Given the description of an element on the screen output the (x, y) to click on. 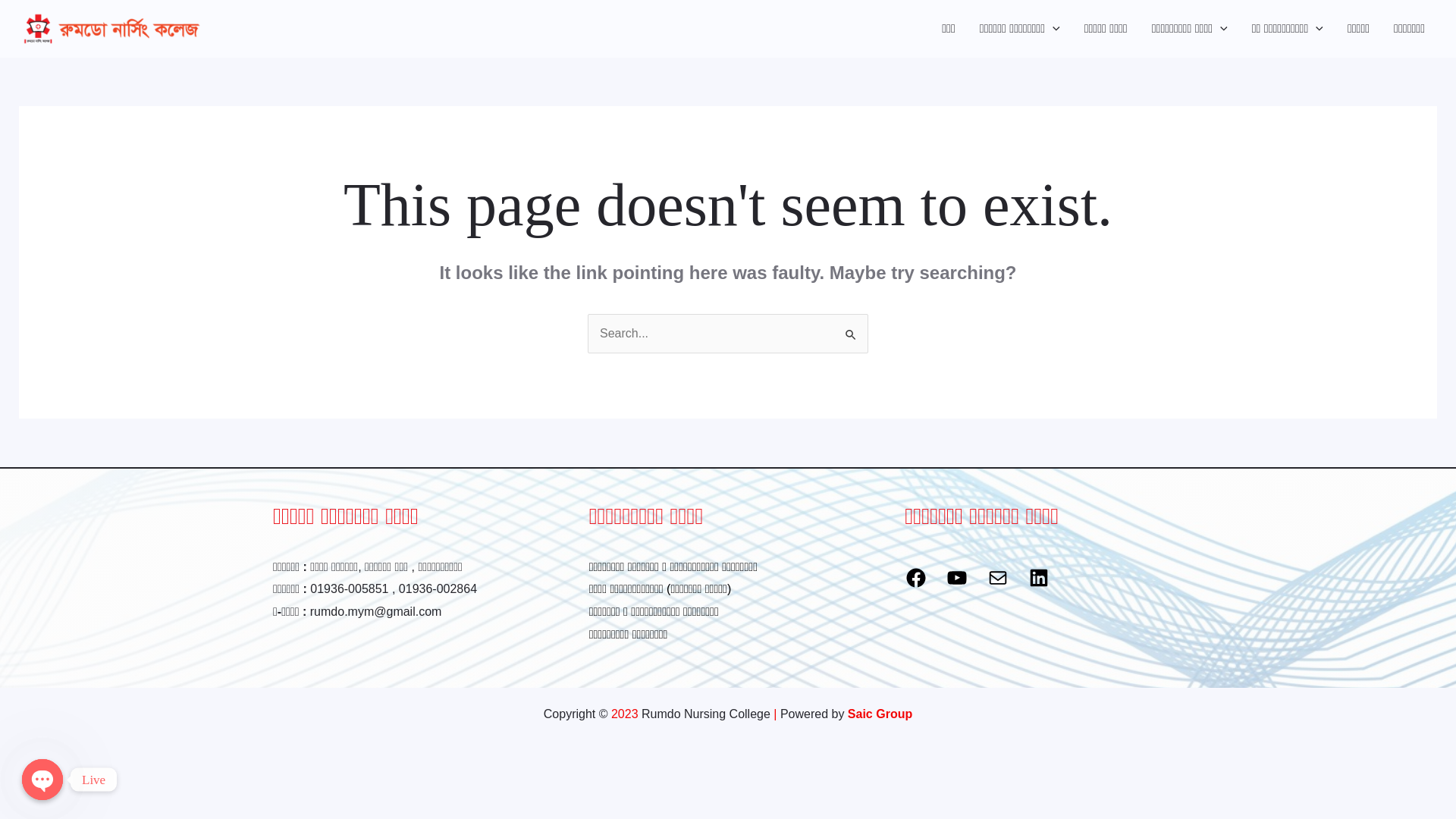
Mail Element type: text (997, 577)
Search Element type: text (851, 329)
YouTube Element type: text (956, 577)
LinkedIn Element type: text (1038, 577)
Facebook Element type: text (915, 577)
